Given the description of an element on the screen output the (x, y) to click on. 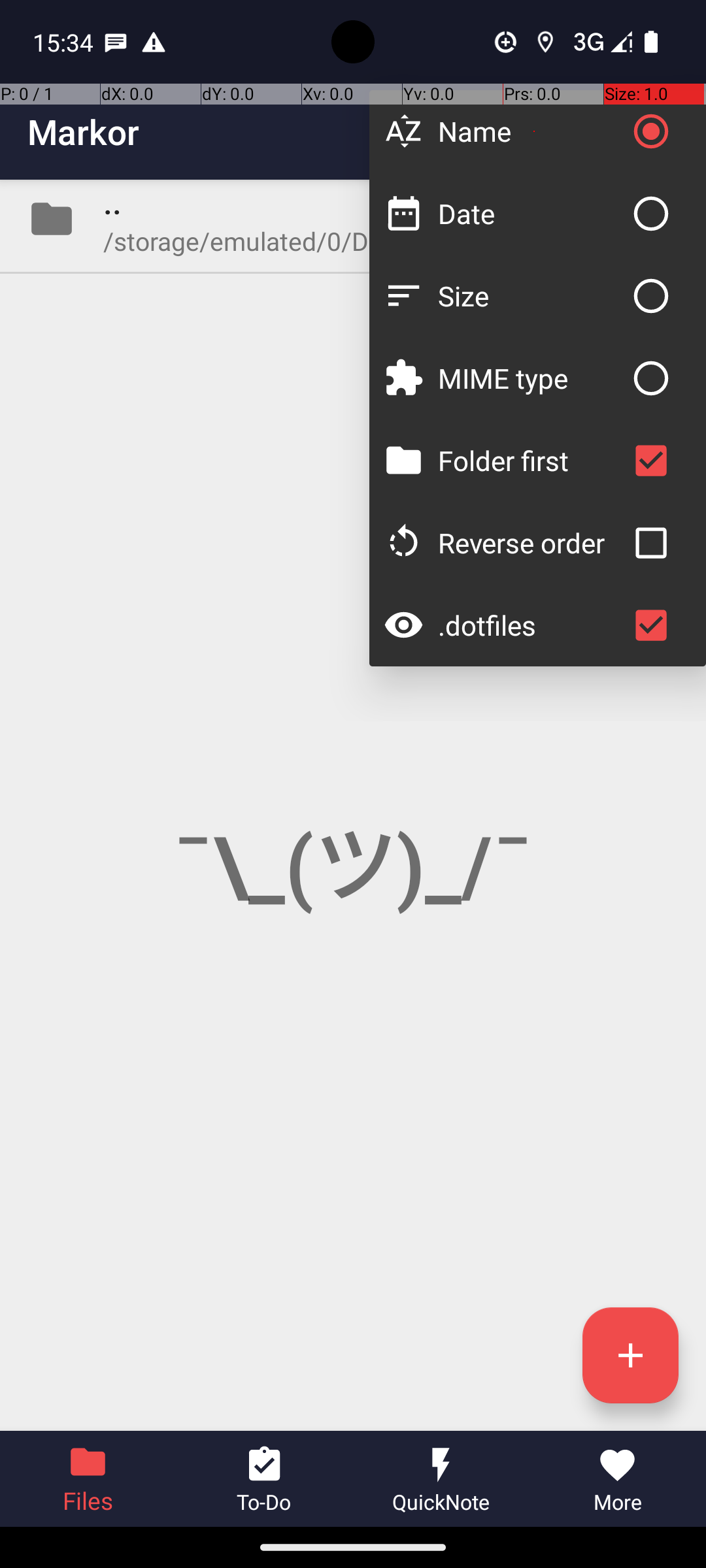
Size Element type: android.widget.TextView (530, 295)
MIME type Element type: android.widget.TextView (530, 377)
Folder first Element type: android.widget.TextView (530, 459)
Reverse order Element type: android.widget.TextView (530, 542)
.dotfiles Element type: android.widget.TextView (530, 624)
